Given the description of an element on the screen output the (x, y) to click on. 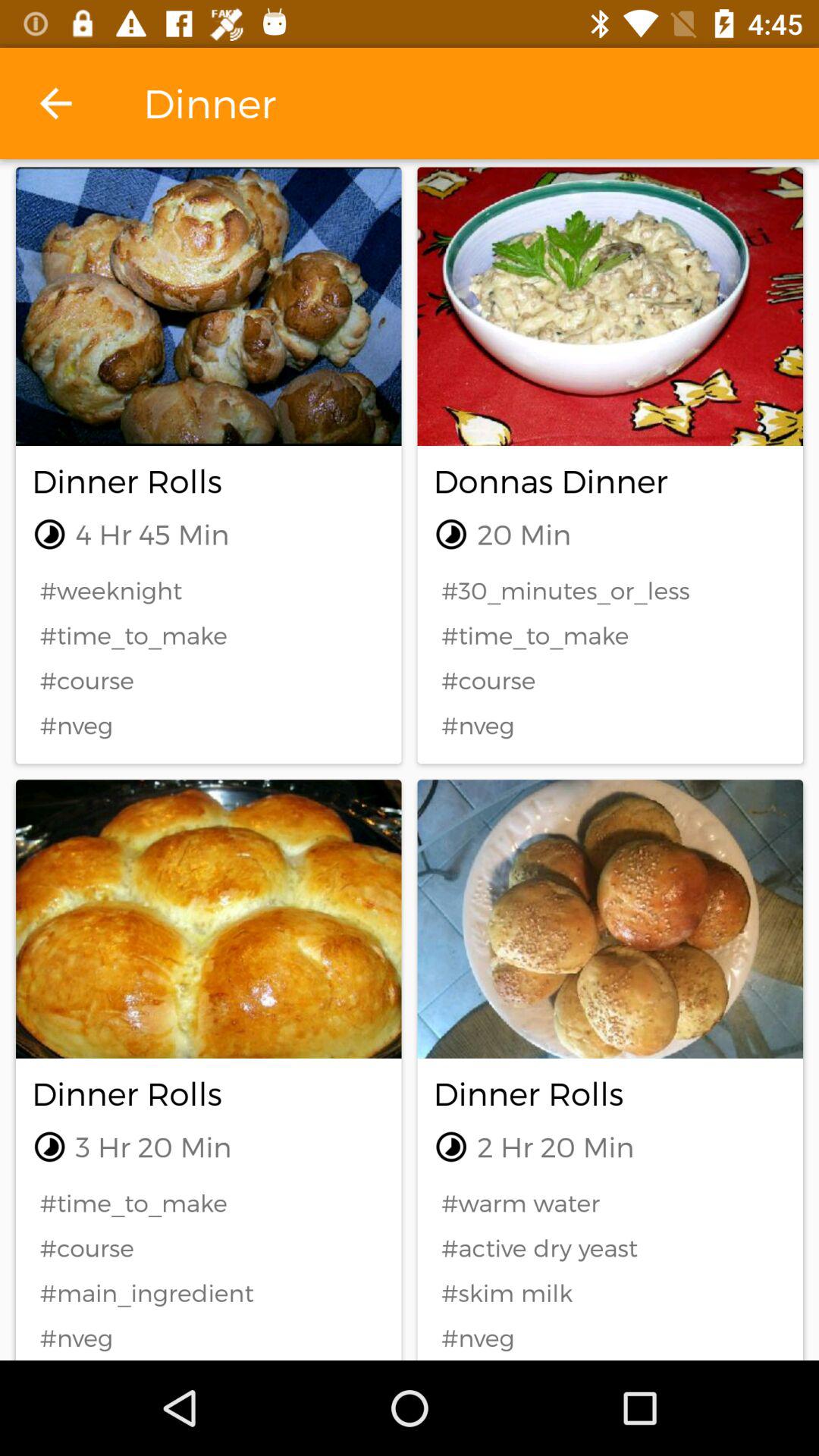
choose the #warm water icon (610, 1202)
